Given the description of an element on the screen output the (x, y) to click on. 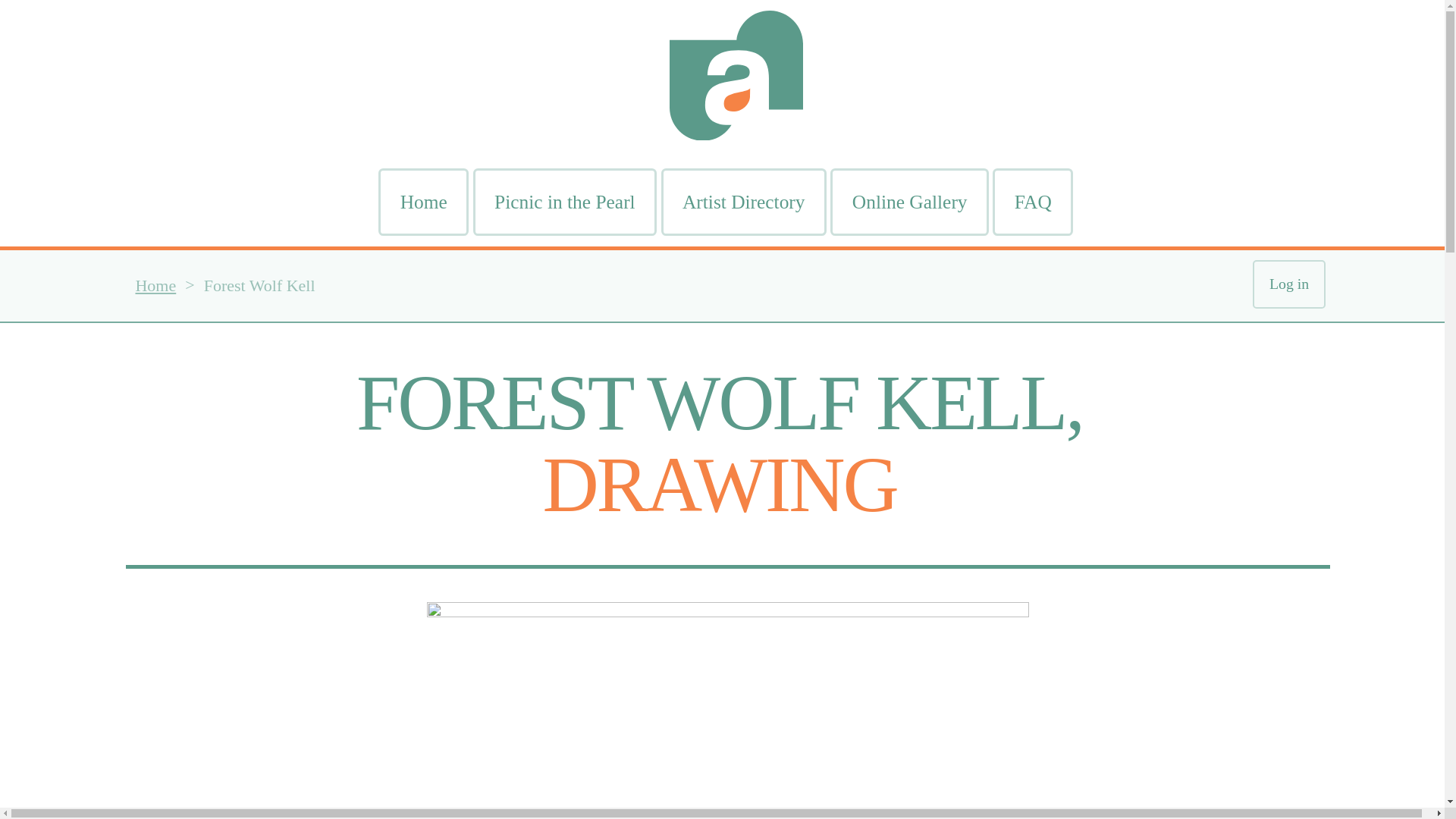
Home (154, 286)
Artist Directory (744, 202)
Log in (1288, 283)
Picnic in the Pearl (564, 202)
FAQ (1032, 202)
Online Gallery (908, 202)
Home (423, 202)
Frequently Asked Questions (1032, 202)
